Given the description of an element on the screen output the (x, y) to click on. 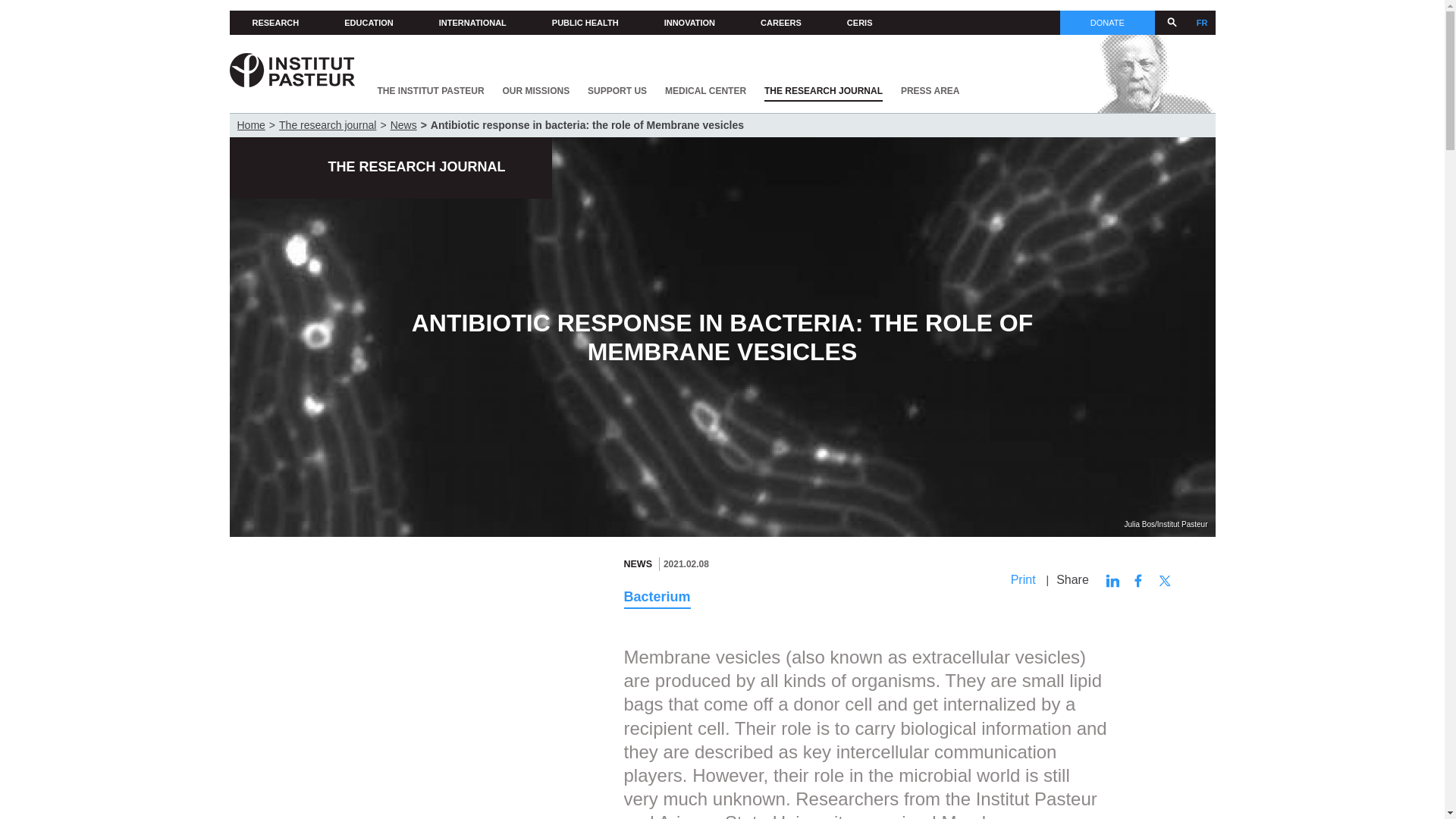
Home (290, 71)
Partager sur Twitter (1164, 580)
Publier cet article sur LinkedIn. (1112, 581)
